Given the description of an element on the screen output the (x, y) to click on. 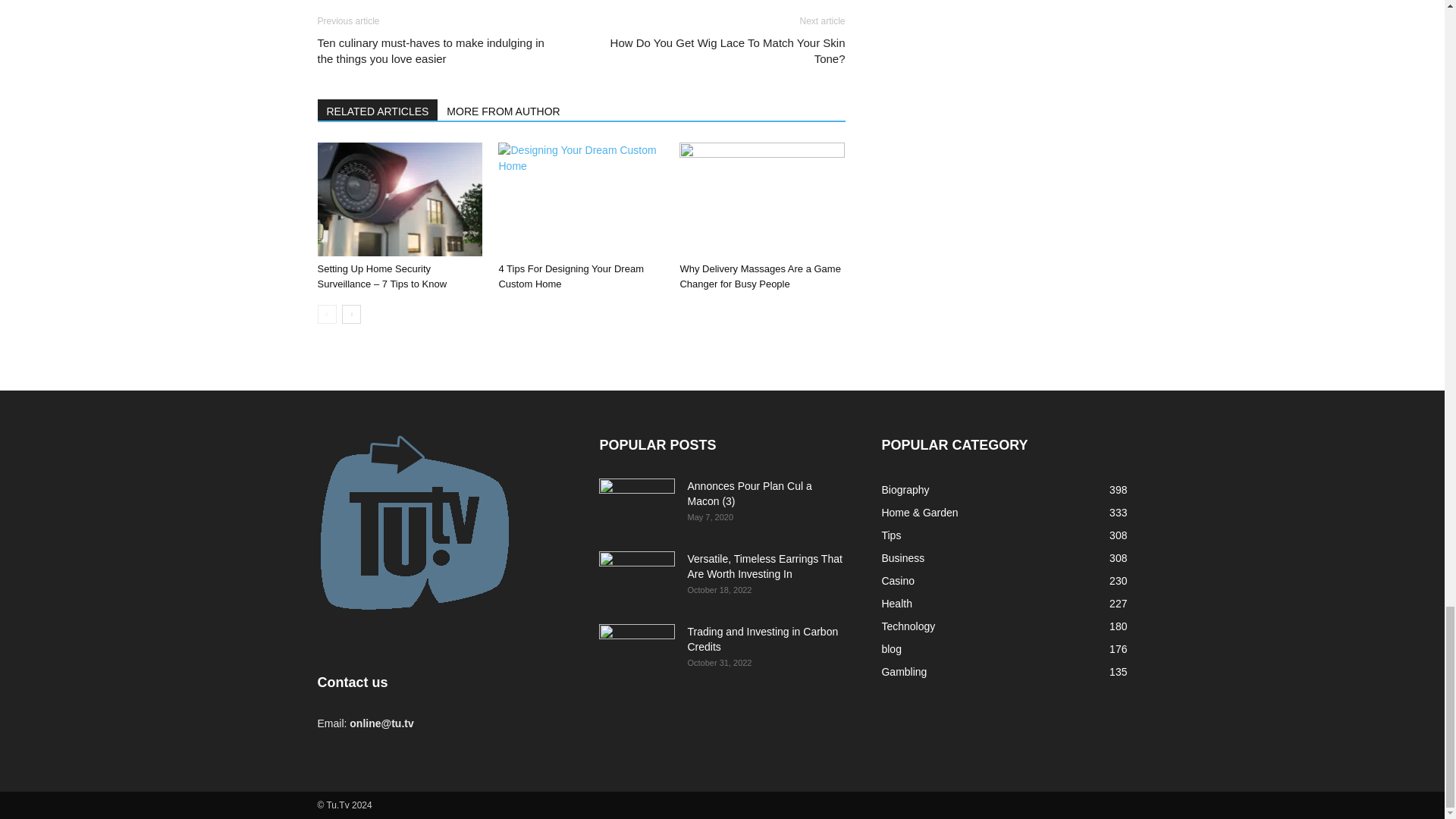
4 Tips For Designing Your Dream Custom Home (580, 199)
Why Delivery Massages Are a Game Changer for Busy People (761, 199)
4 Tips For Designing Your Dream Custom Home (570, 275)
Why Delivery Massages Are a Game Changer for Busy People (759, 275)
